Given the description of an element on the screen output the (x, y) to click on. 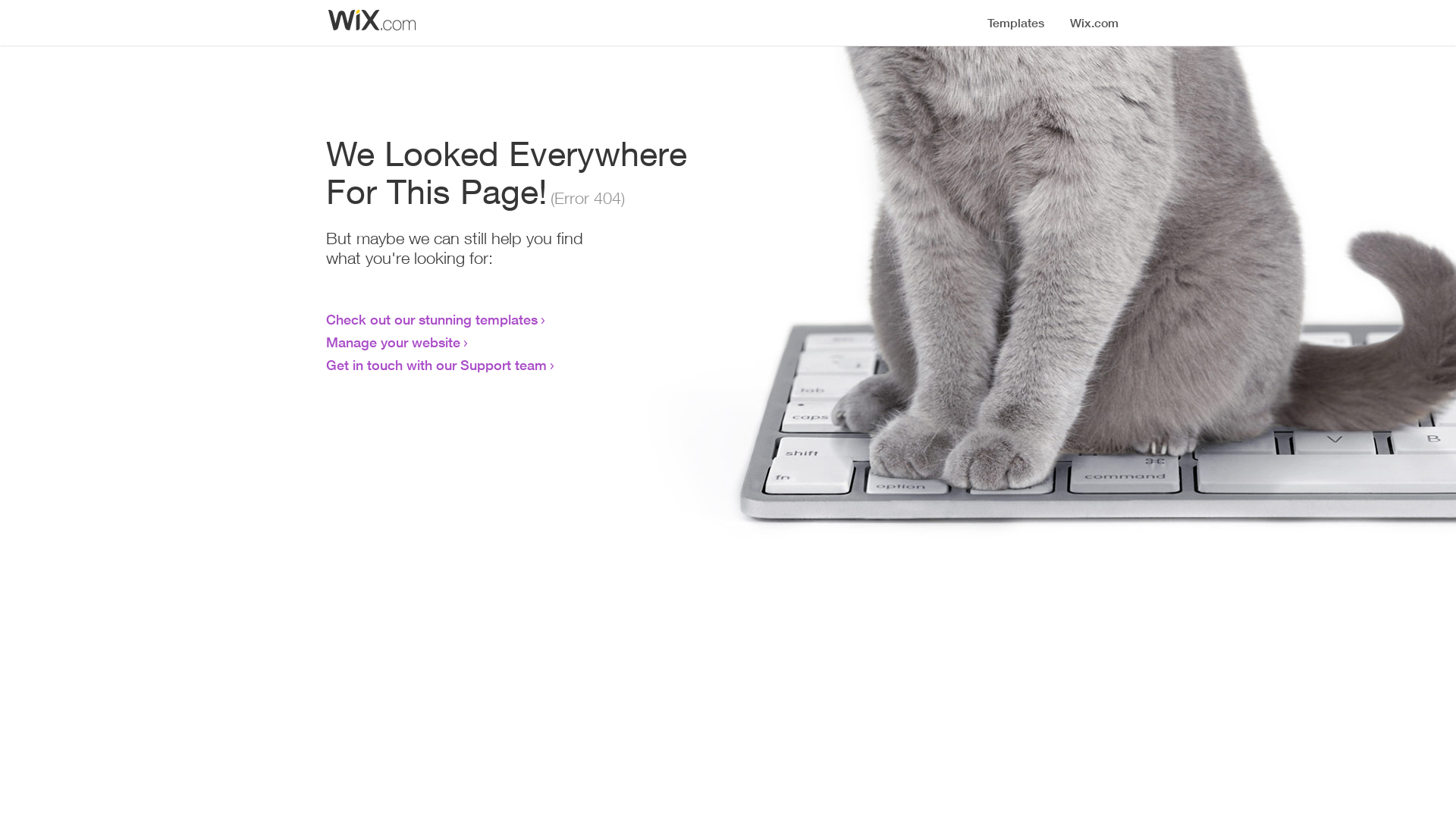
Get in touch with our Support team Element type: text (436, 364)
Check out our stunning templates Element type: text (431, 318)
Manage your website Element type: text (393, 341)
